Given the description of an element on the screen output the (x, y) to click on. 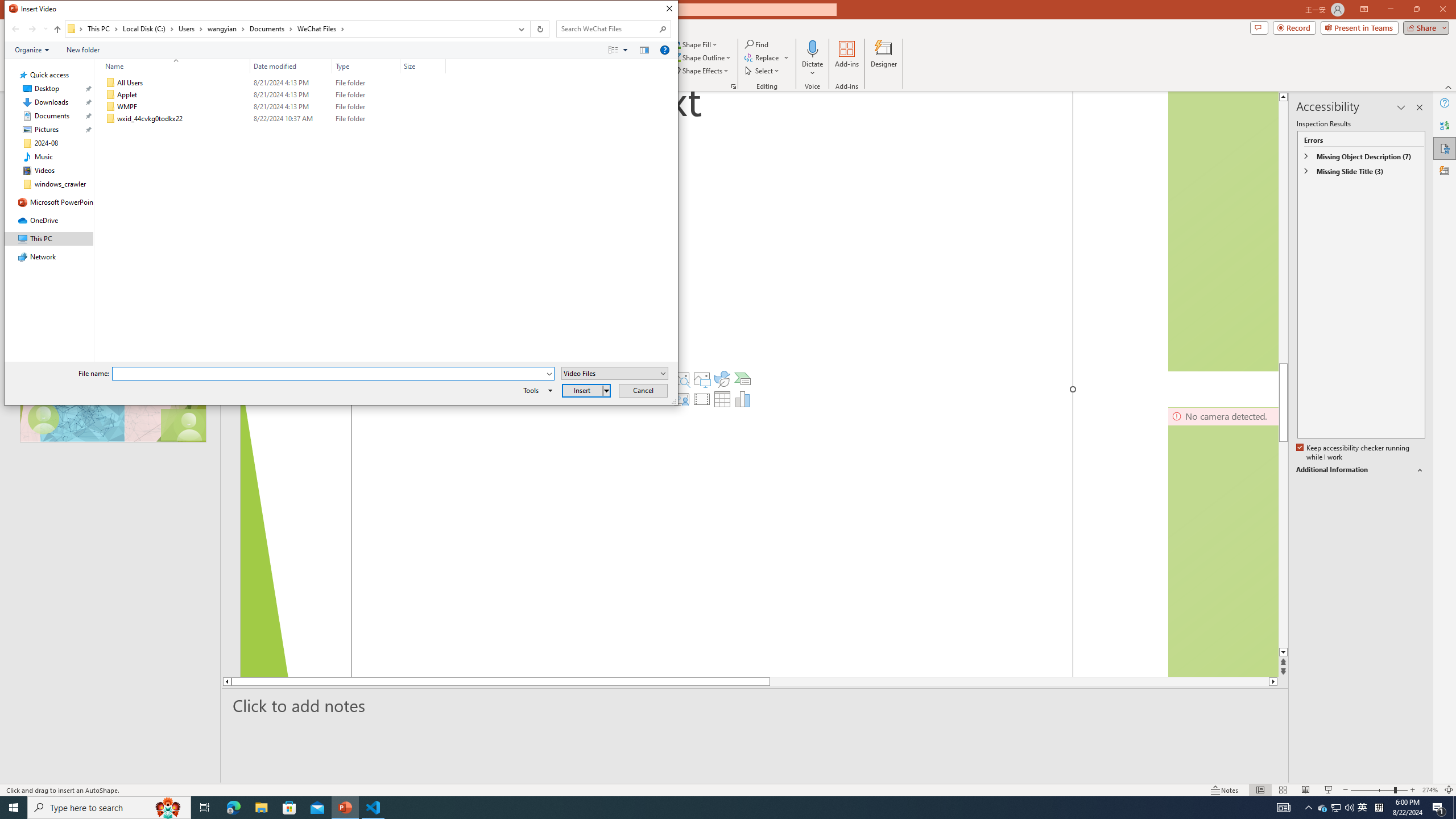
Search Box (607, 28)
&Help (664, 49)
Tools (535, 390)
